Given the description of an element on the screen output the (x, y) to click on. 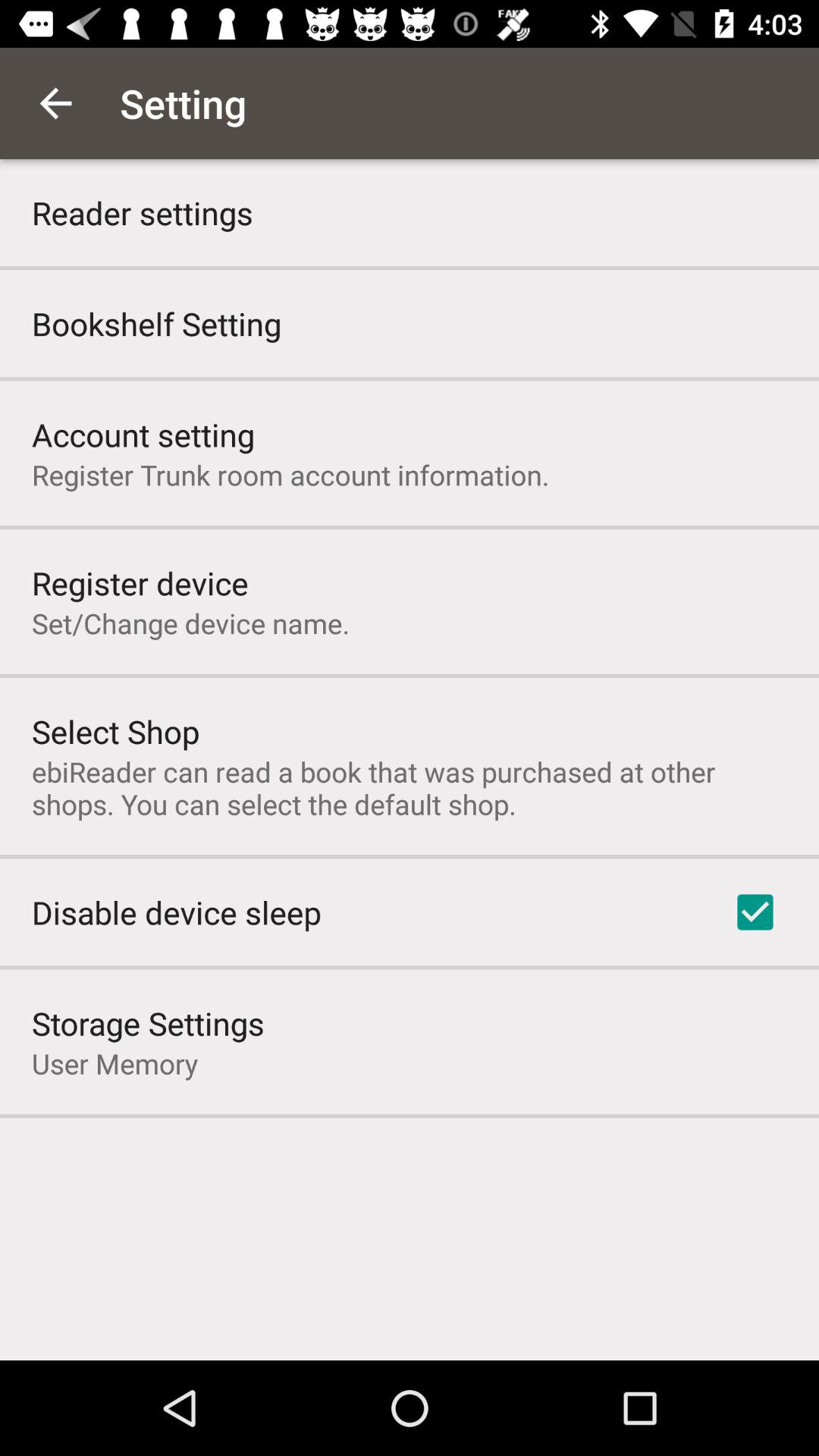
press the icon above set change device (139, 582)
